Given the description of an element on the screen output the (x, y) to click on. 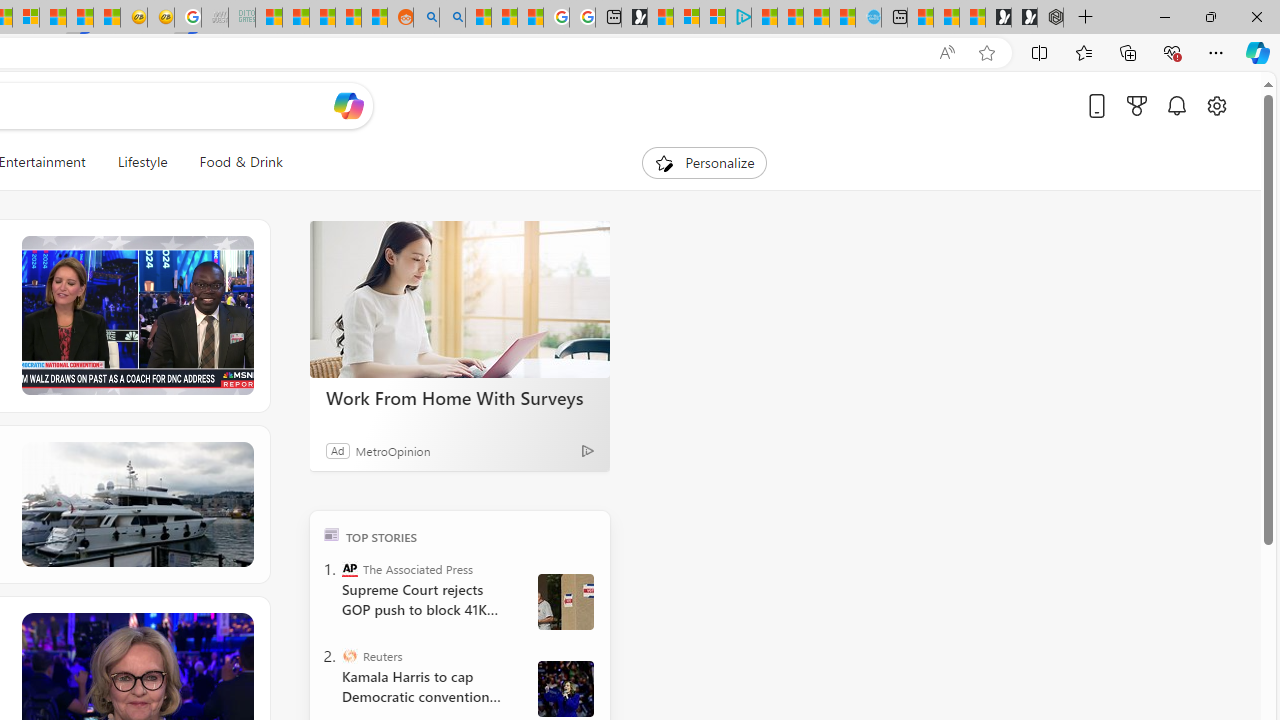
Home | Sky Blue Bikes - Sky Blue Bikes (868, 17)
See more (239, 626)
MetroOpinion (392, 450)
Notifications (1176, 105)
Fix Boat Bliss (136, 504)
